Given the description of an element on the screen output the (x, y) to click on. 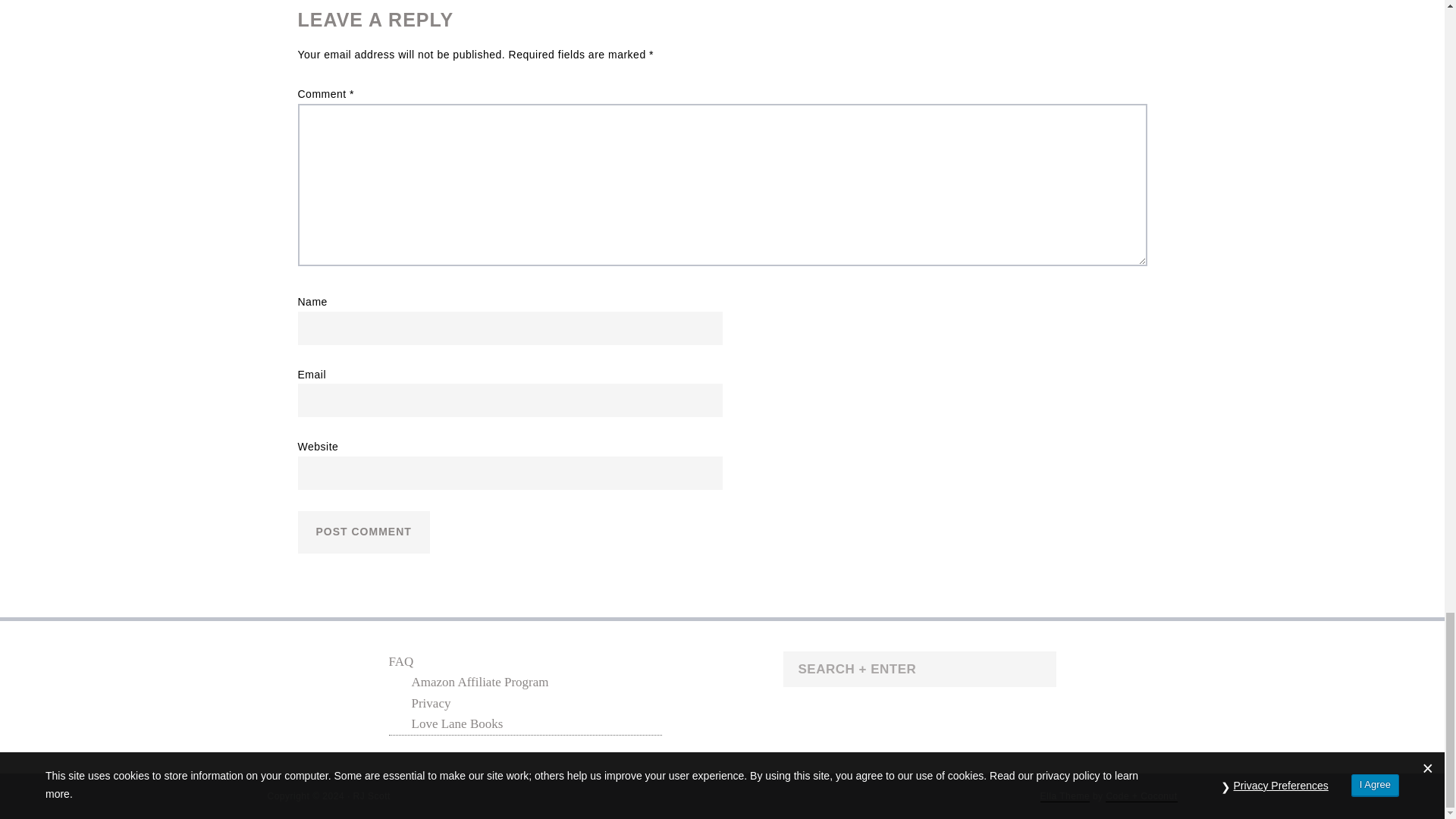
Love Lane Books (456, 723)
FAQ (400, 661)
Ella Theme (1065, 796)
Post Comment (363, 532)
Post Comment (363, 532)
Amazon Affiliate Program (479, 681)
Privacy (429, 703)
